Given the description of an element on the screen output the (x, y) to click on. 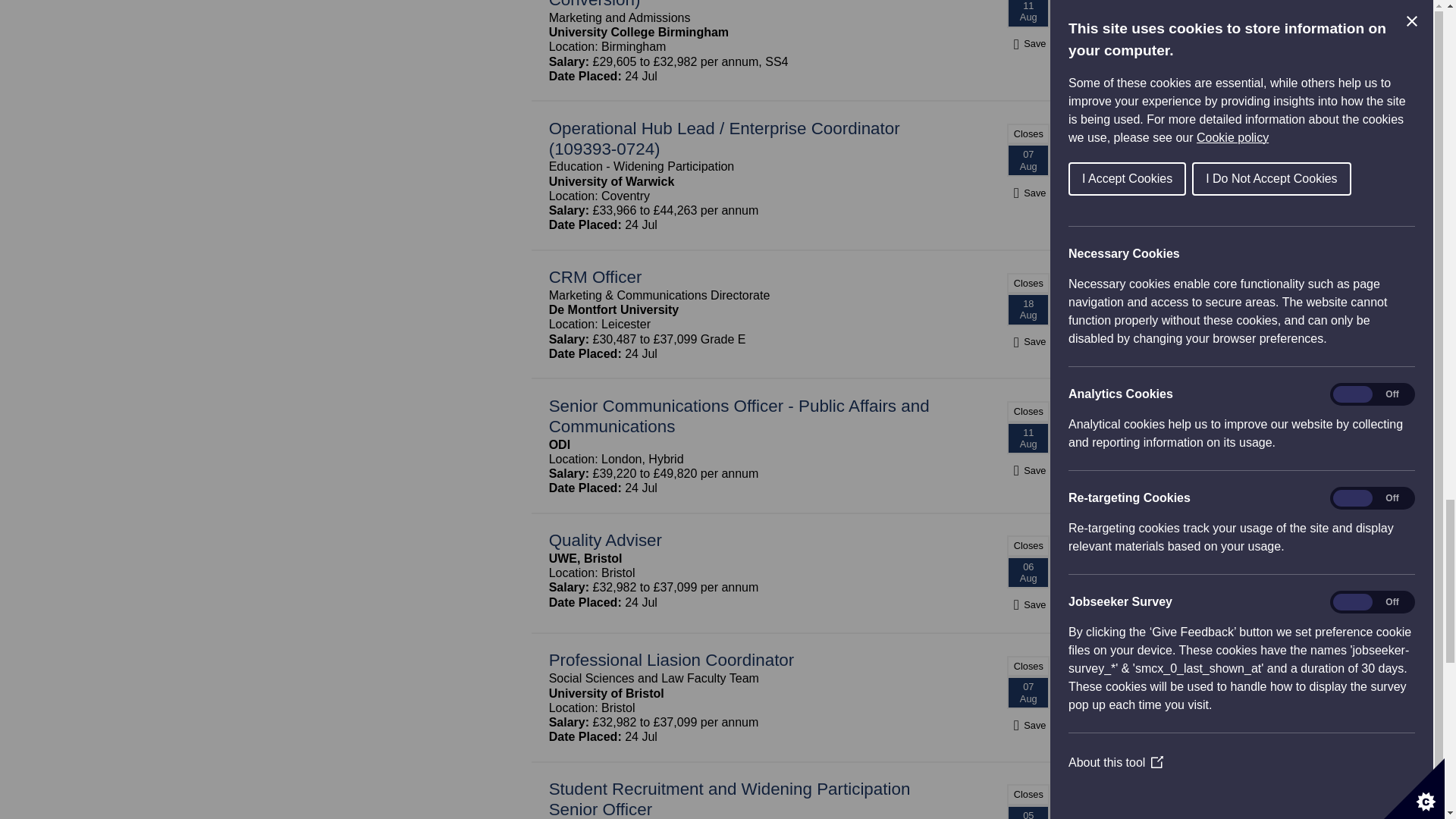
Save job (1027, 43)
